Given the description of an element on the screen output the (x, y) to click on. 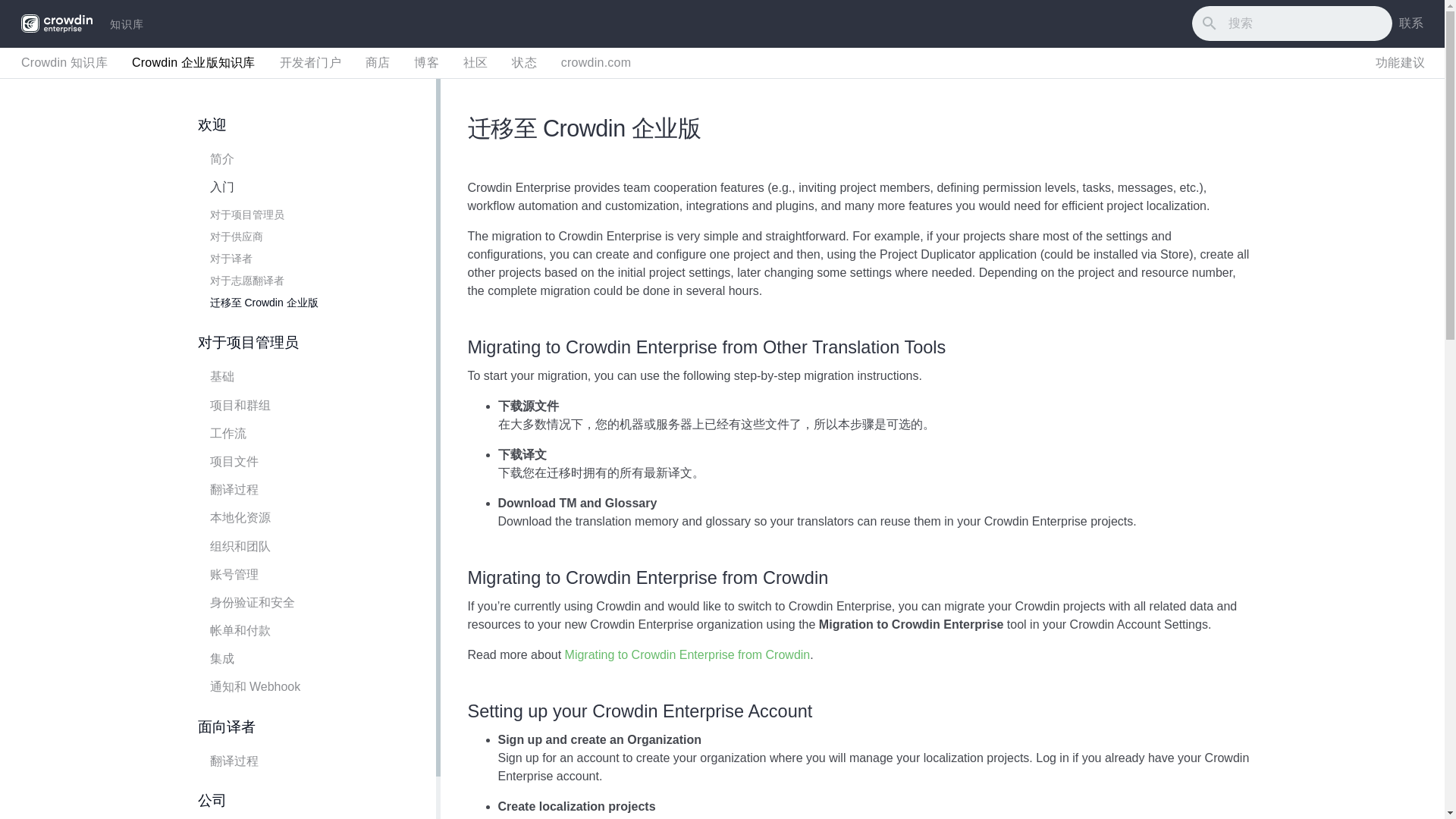
crowdin.com (595, 62)
